Given the description of an element on the screen output the (x, y) to click on. 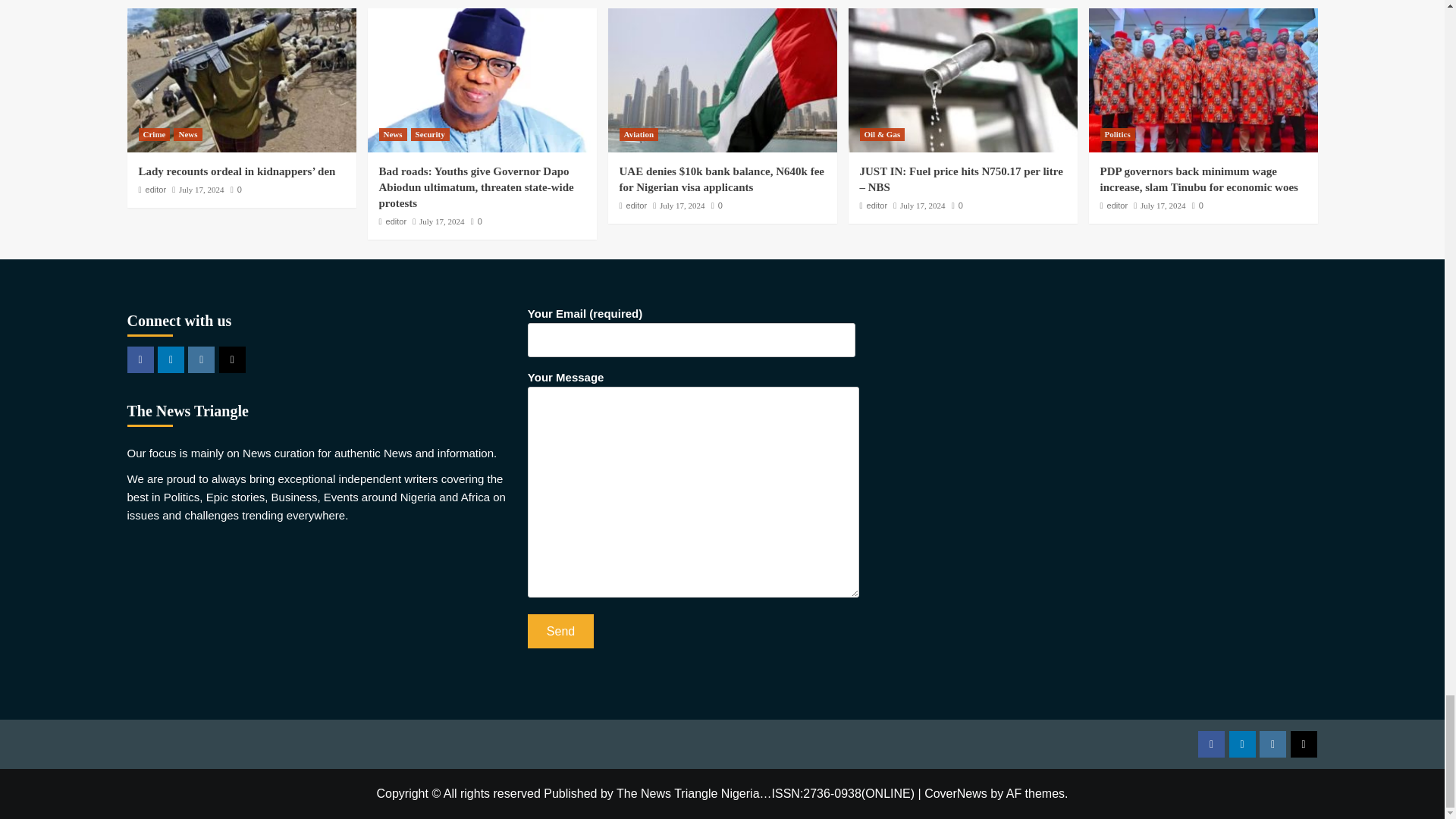
Send (560, 631)
